Given the description of an element on the screen output the (x, y) to click on. 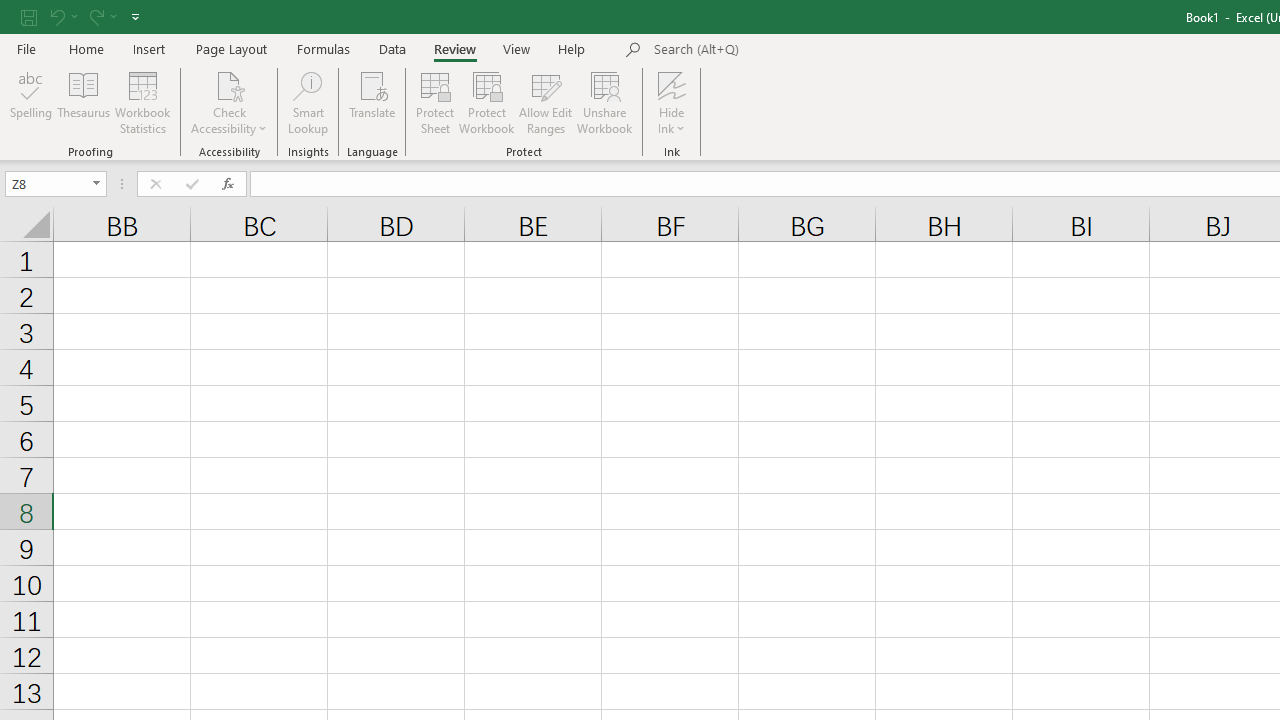
Thesaurus... (83, 102)
Unshare Workbook (604, 102)
Smart Lookup (308, 102)
Protect Workbook... (486, 102)
Translate (372, 102)
Check Accessibility (229, 102)
Hide Ink (671, 84)
Workbook Statistics (142, 102)
